Given the description of an element on the screen output the (x, y) to click on. 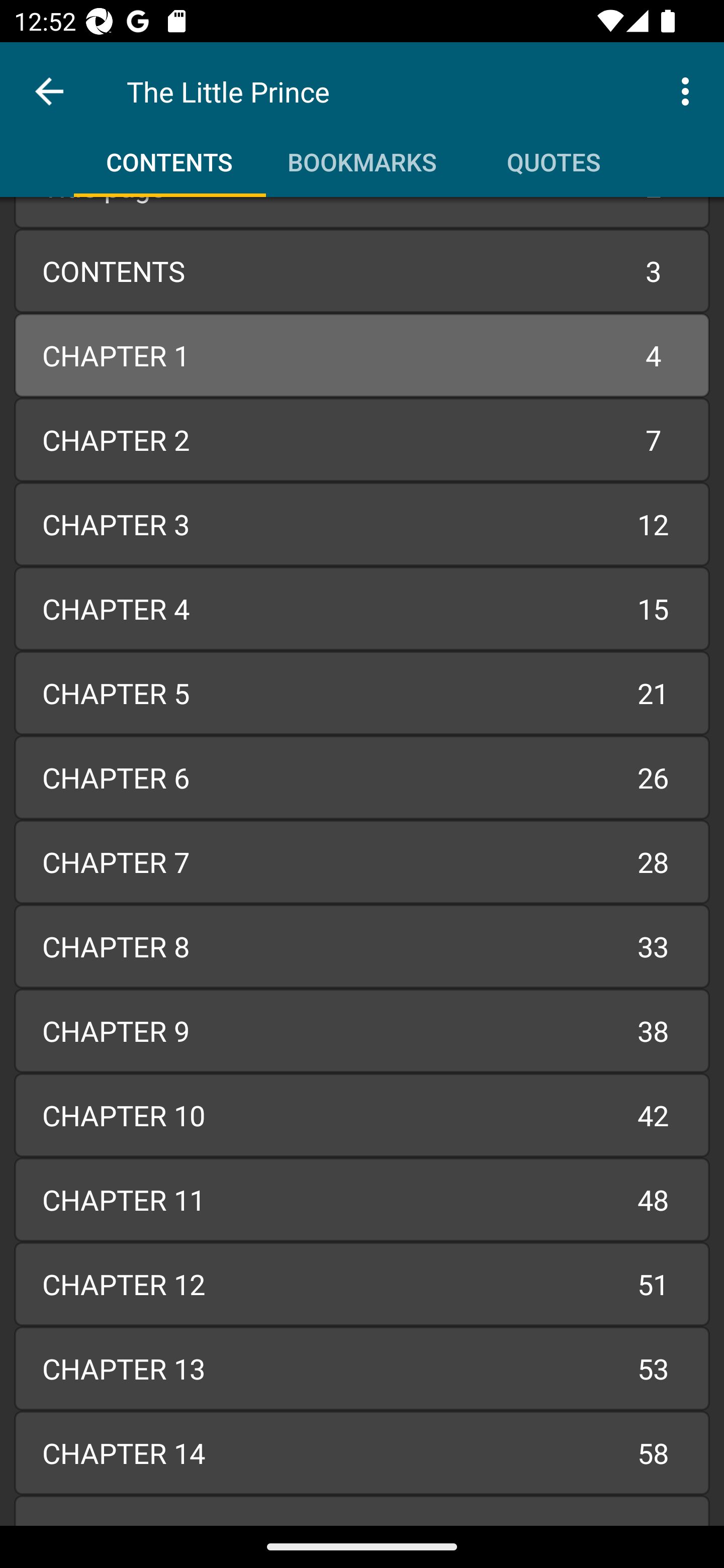
Back (49, 91)
More options (688, 90)
Bookmarks BOOKMARKS (361, 154)
Quotes QUOTES (554, 154)
CONTENTS 3 (361, 270)
CHAPTER 1 4 (361, 355)
CHAPTER 2 7 (361, 439)
CHAPTER 3 12 (361, 523)
CHAPTER 4 15 (361, 608)
CHAPTER 5 21 (361, 692)
CHAPTER 6 26 (361, 777)
CHAPTER 7 28 (361, 862)
CHAPTER 8 33 (361, 945)
CHAPTER 9 38 (361, 1029)
CHAPTER 10 42 (361, 1114)
CHAPTER 11 48 (361, 1199)
CHAPTER 12 51 (361, 1283)
CHAPTER 13 53 (361, 1368)
CHAPTER 14 58 (361, 1453)
